Given the description of an element on the screen output the (x, y) to click on. 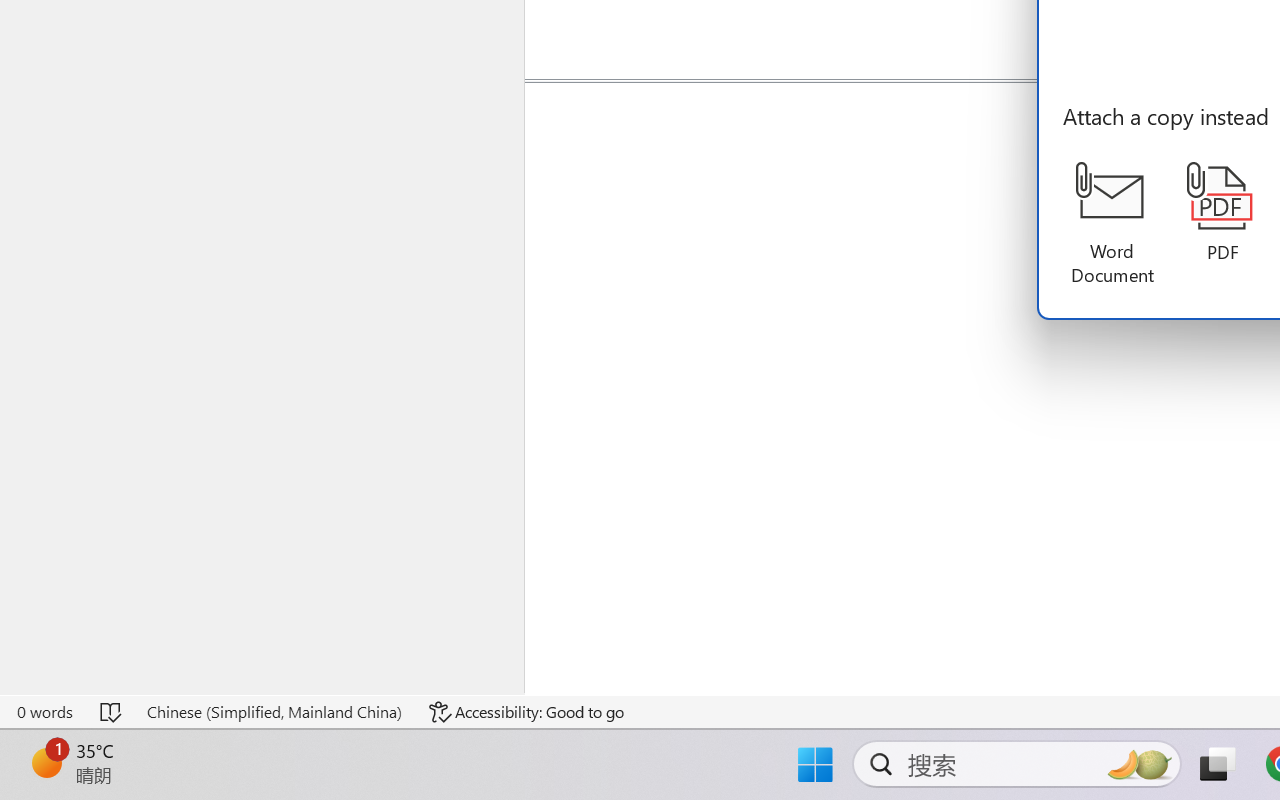
PDF (1222, 213)
Word Document (1112, 224)
